Given the description of an element on the screen output the (x, y) to click on. 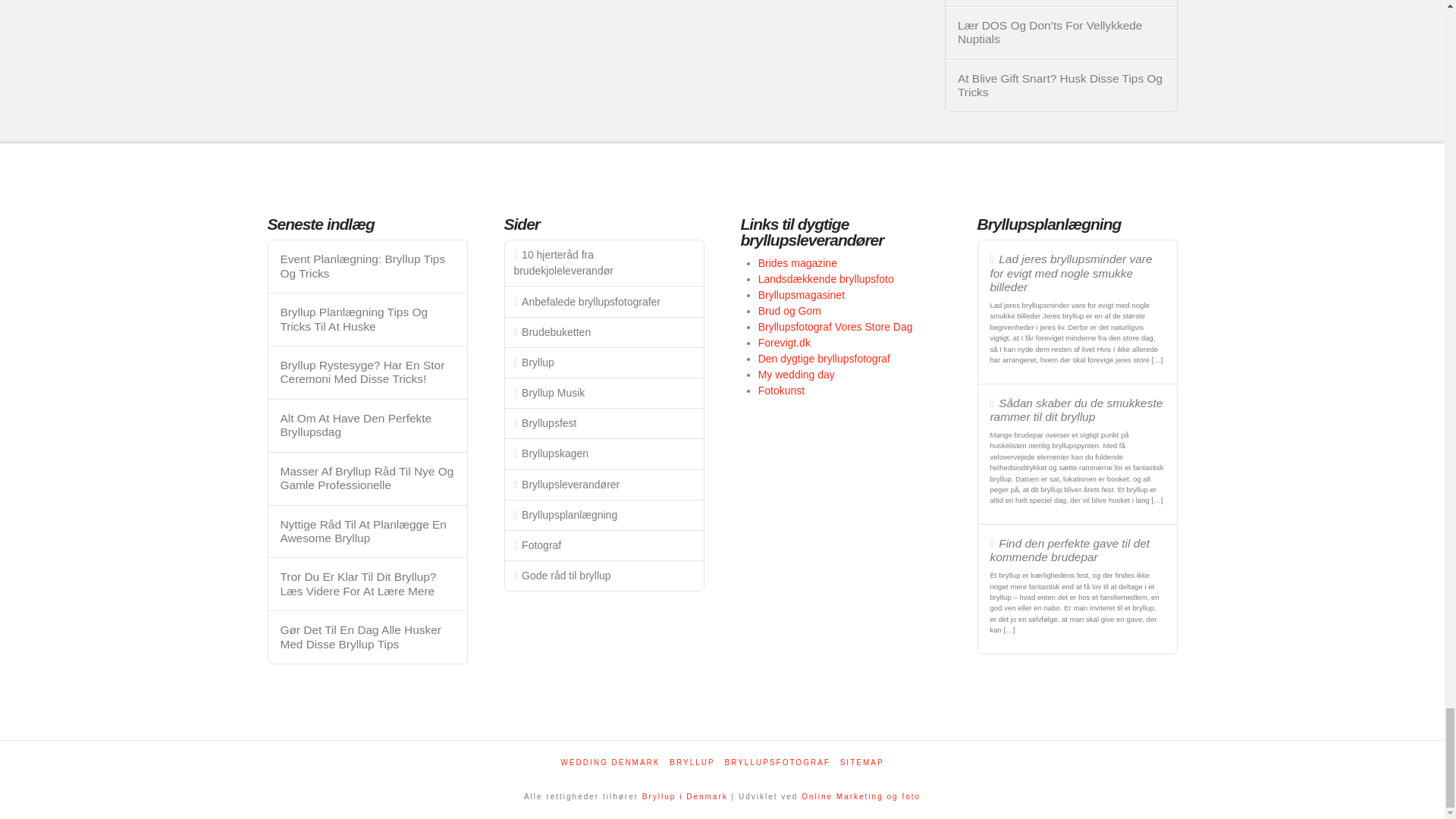
Online Marketing og foto (861, 796)
Bryllup (685, 796)
